Given the description of an element on the screen output the (x, y) to click on. 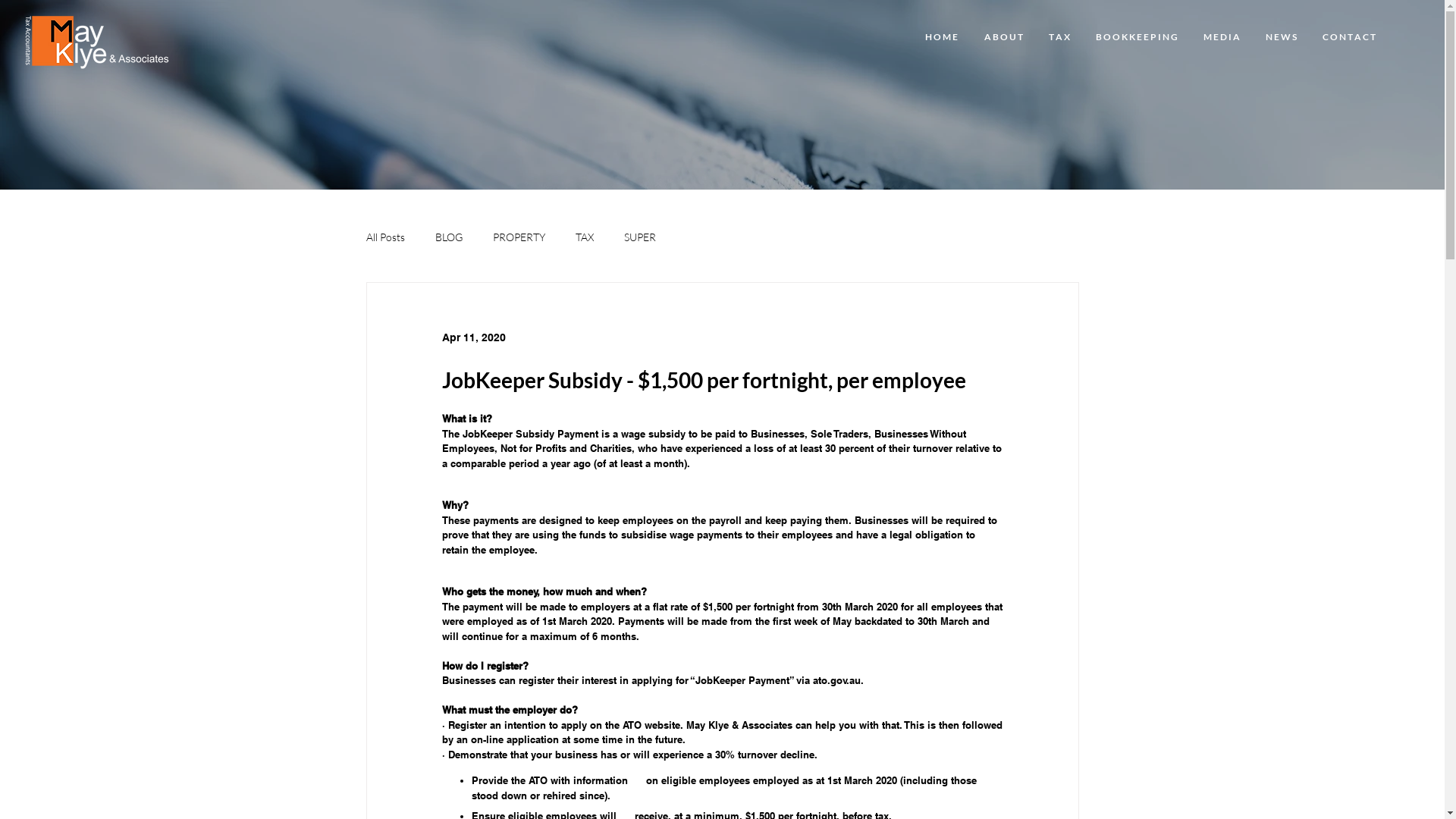
N E W S Element type: text (1280, 37)
All Posts Element type: text (384, 236)
SUPER Element type: text (639, 236)
H O M E Element type: text (940, 37)
TAX Element type: text (583, 236)
M E D I A Element type: text (1221, 37)
BLOG Element type: text (448, 236)
B O O K K E E P I N G Element type: text (1136, 37)
PROPERTY Element type: text (518, 236)
T A X Element type: text (1058, 37)
A B O U T Element type: text (1002, 37)
C O N T A C T Element type: text (1348, 37)
